Given the description of an element on the screen output the (x, y) to click on. 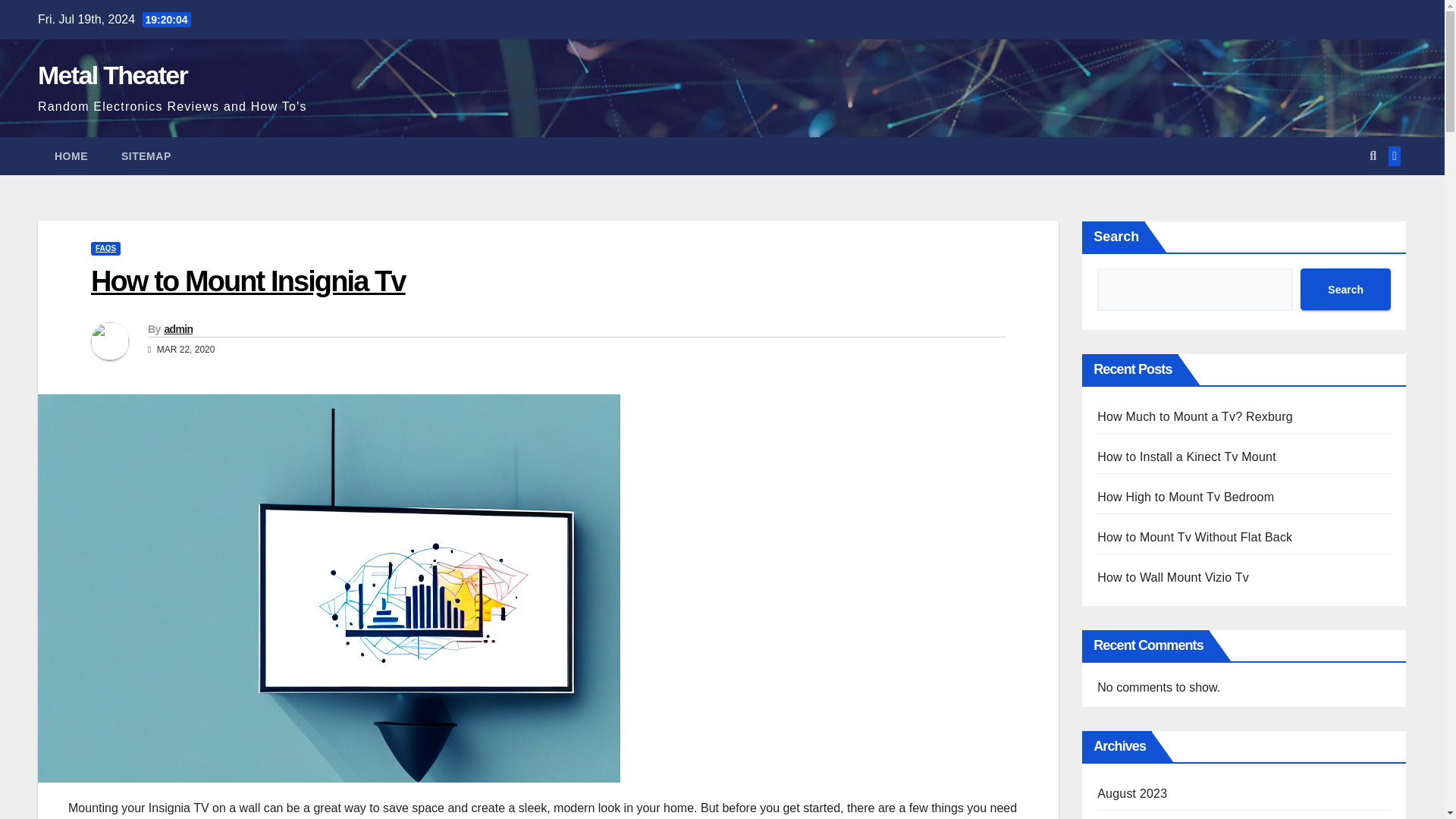
HOME (70, 156)
SITEMAP (145, 156)
Metal Theater (112, 74)
Home (70, 156)
FAQS (105, 248)
admin (177, 328)
Permalink to: How to Mount Insignia Tv (248, 281)
How to Mount Insignia Tv (248, 281)
